Given the description of an element on the screen output the (x, y) to click on. 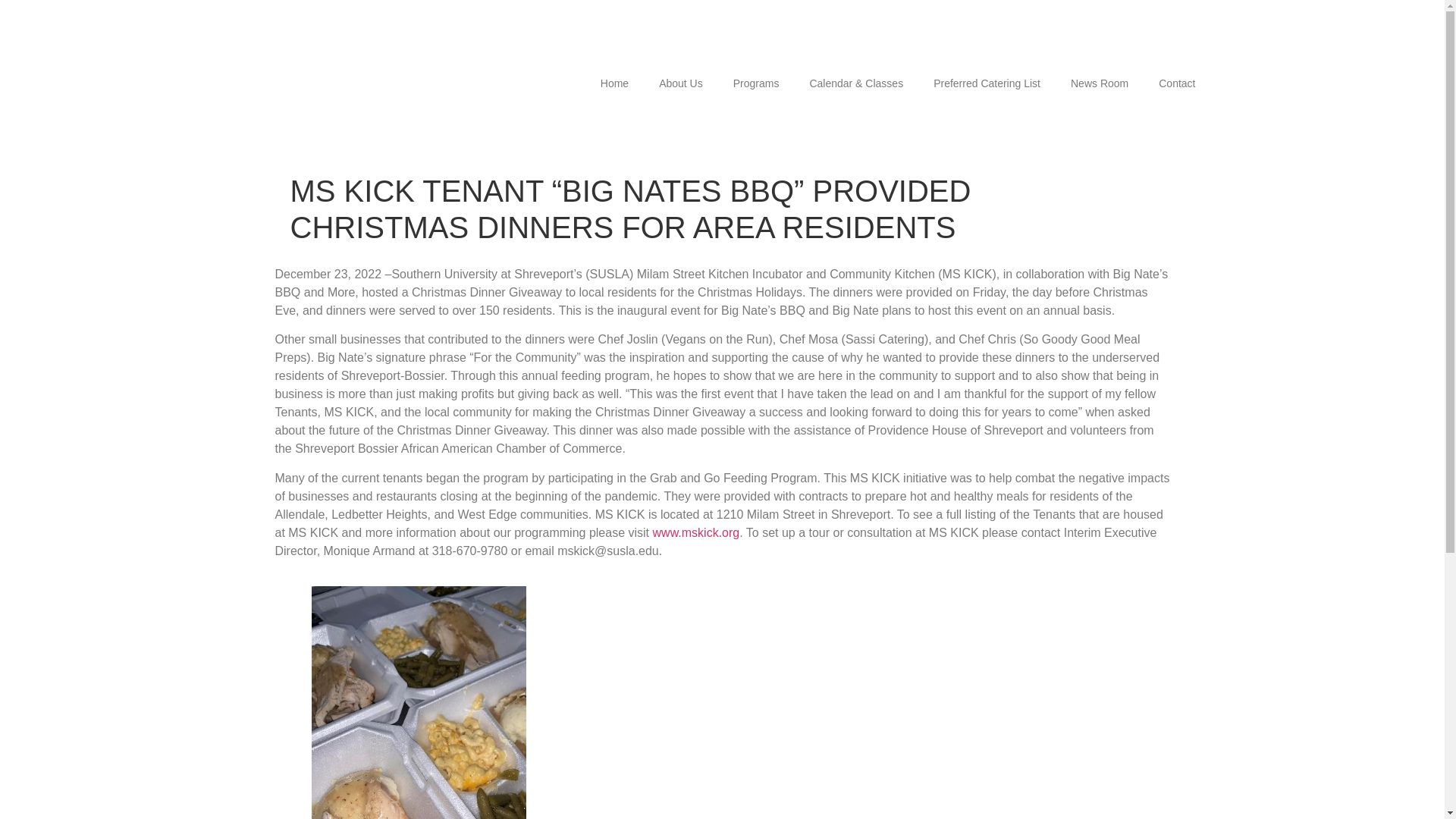
Programs (755, 83)
Contact (1175, 83)
Home (614, 83)
News Room (1098, 83)
Preferred Catering List (986, 83)
About Us (680, 83)
